Given the description of an element on the screen output the (x, y) to click on. 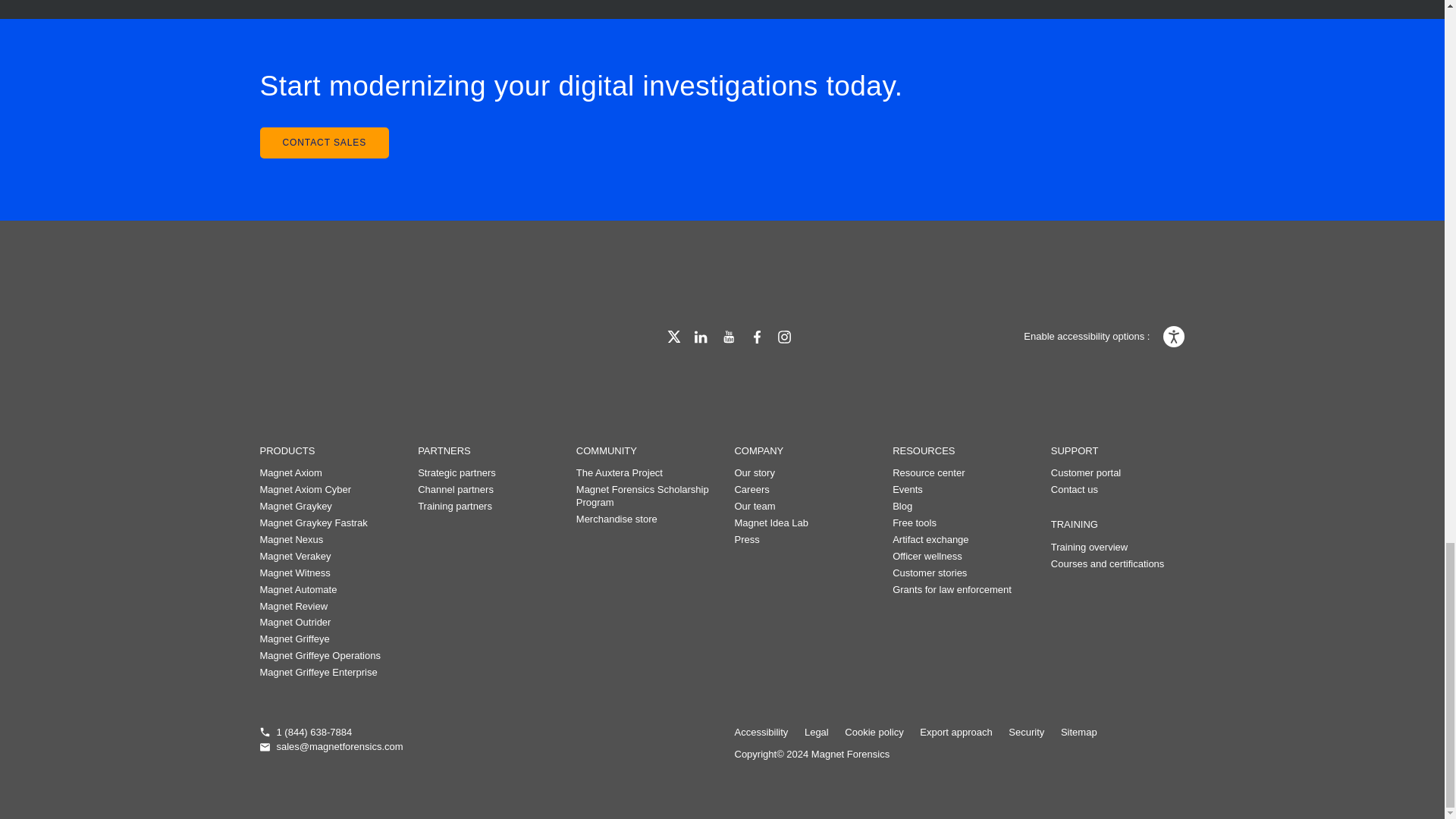
LinkedIn (700, 336)
Instagram (783, 336)
Twitter (672, 336)
YouTube (728, 336)
Facebook (756, 336)
Home (338, 334)
